Given the description of an element on the screen output the (x, y) to click on. 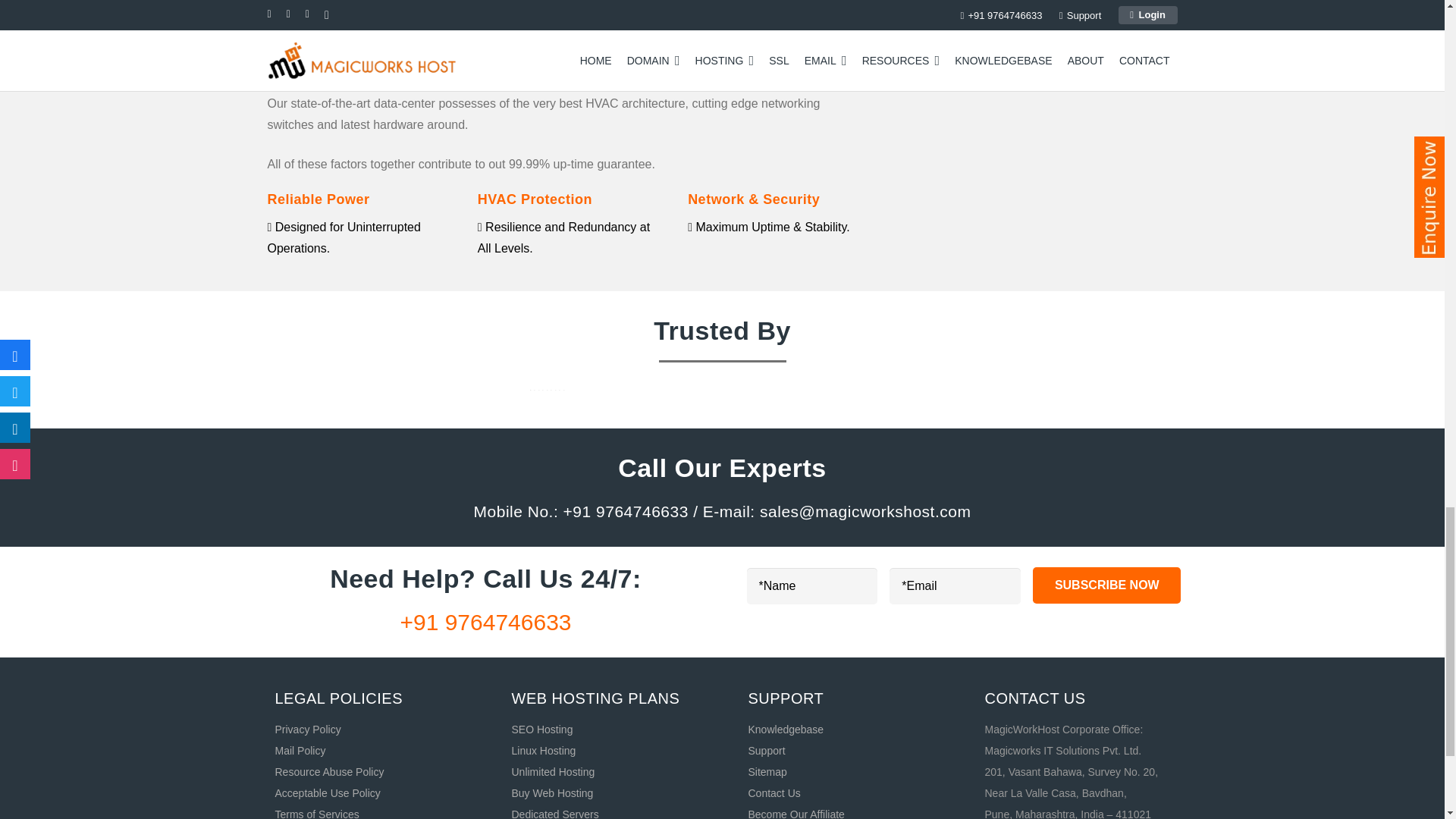
Privacy Policy (307, 729)
Subscribe Now (1106, 585)
Subscribe Now (1106, 585)
